Given the description of an element on the screen output the (x, y) to click on. 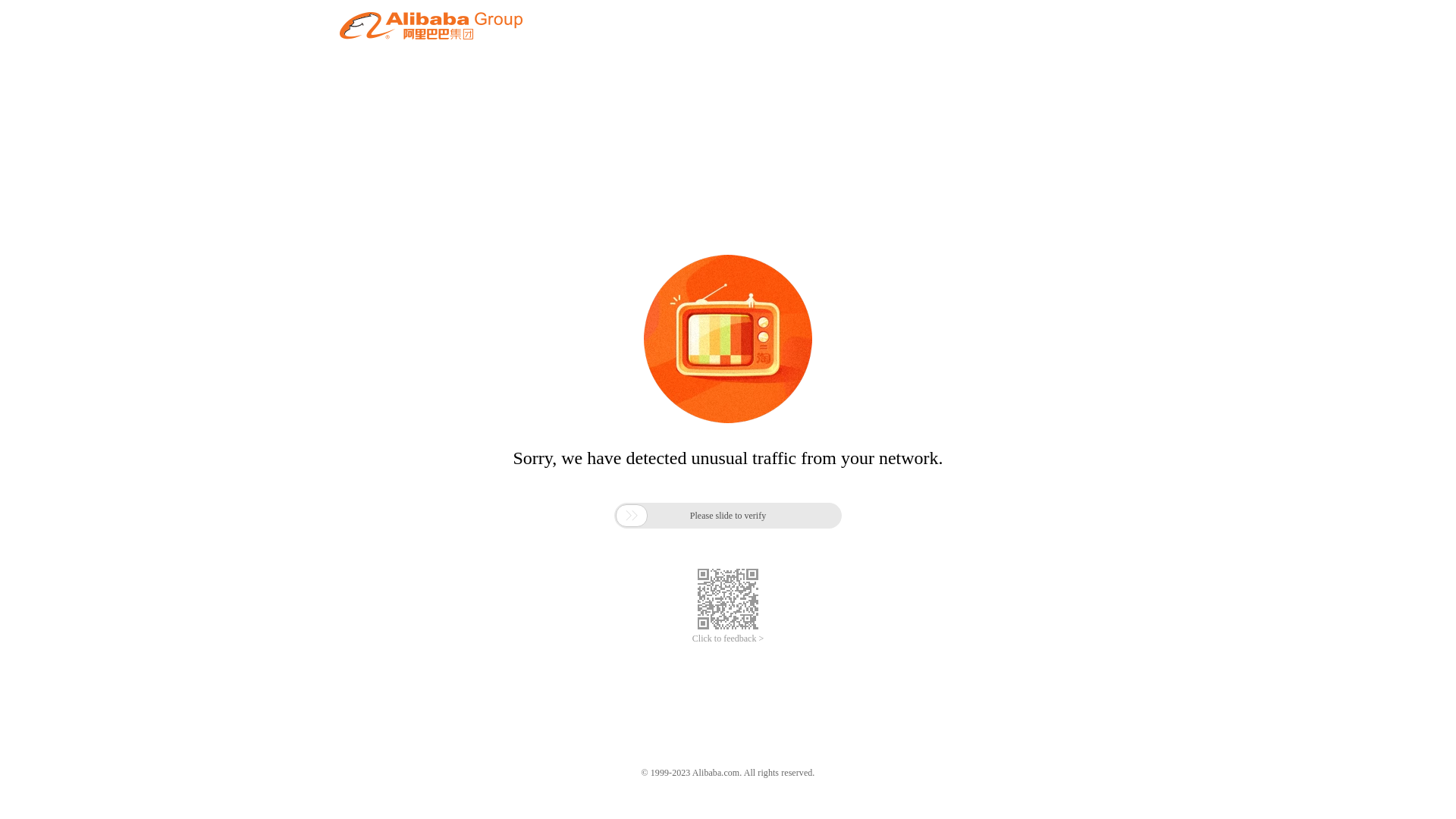
Click to feedback > Element type: text (727, 638)
